Given the description of an element on the screen output the (x, y) to click on. 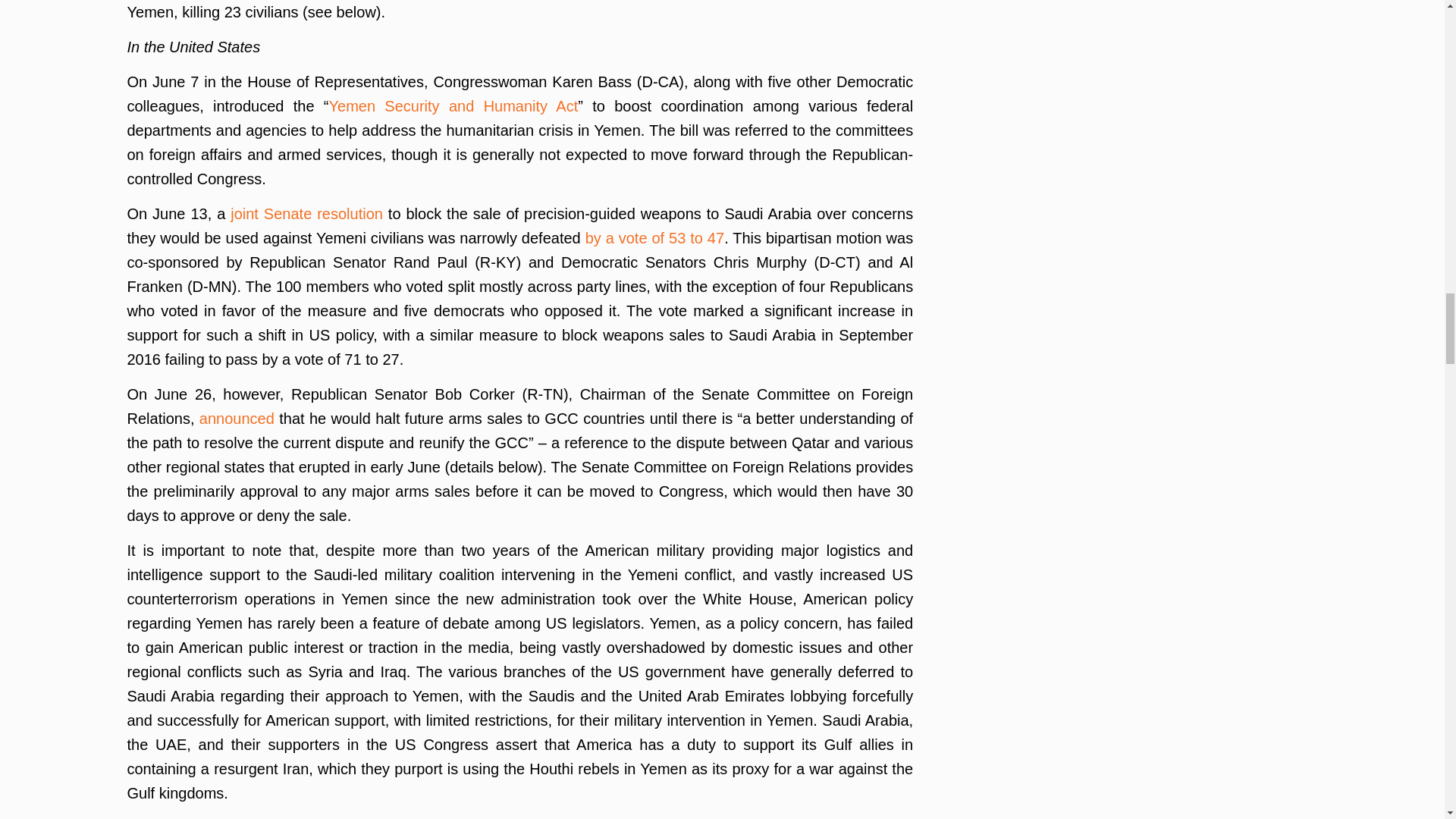
joint Senate resolution (306, 213)
announced (237, 418)
by a vote of 53 to 47 (655, 238)
Yemen Security and Humanity Act (453, 105)
